Given the description of an element on the screen output the (x, y) to click on. 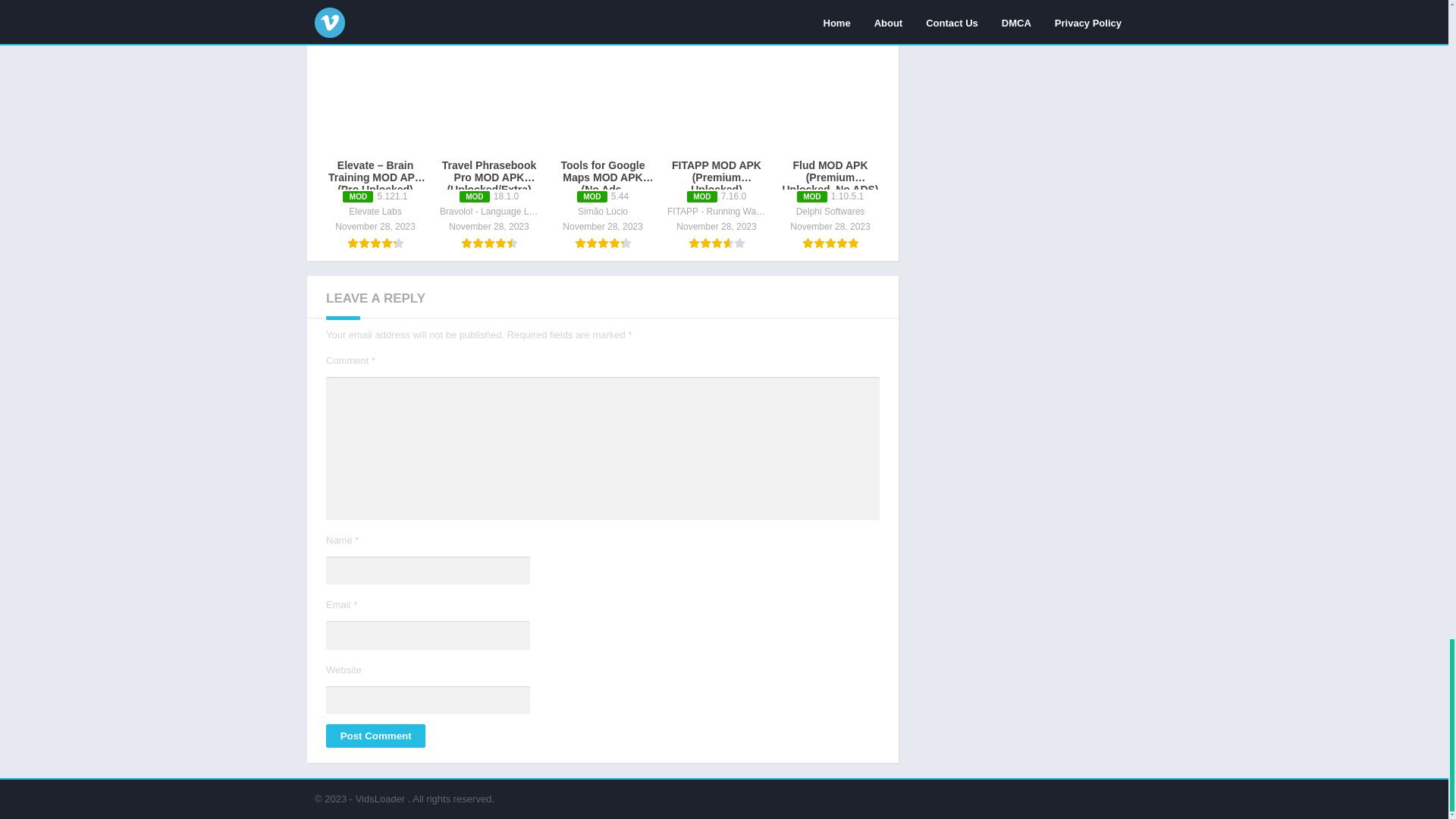
Post Comment (375, 735)
